Given the description of an element on the screen output the (x, y) to click on. 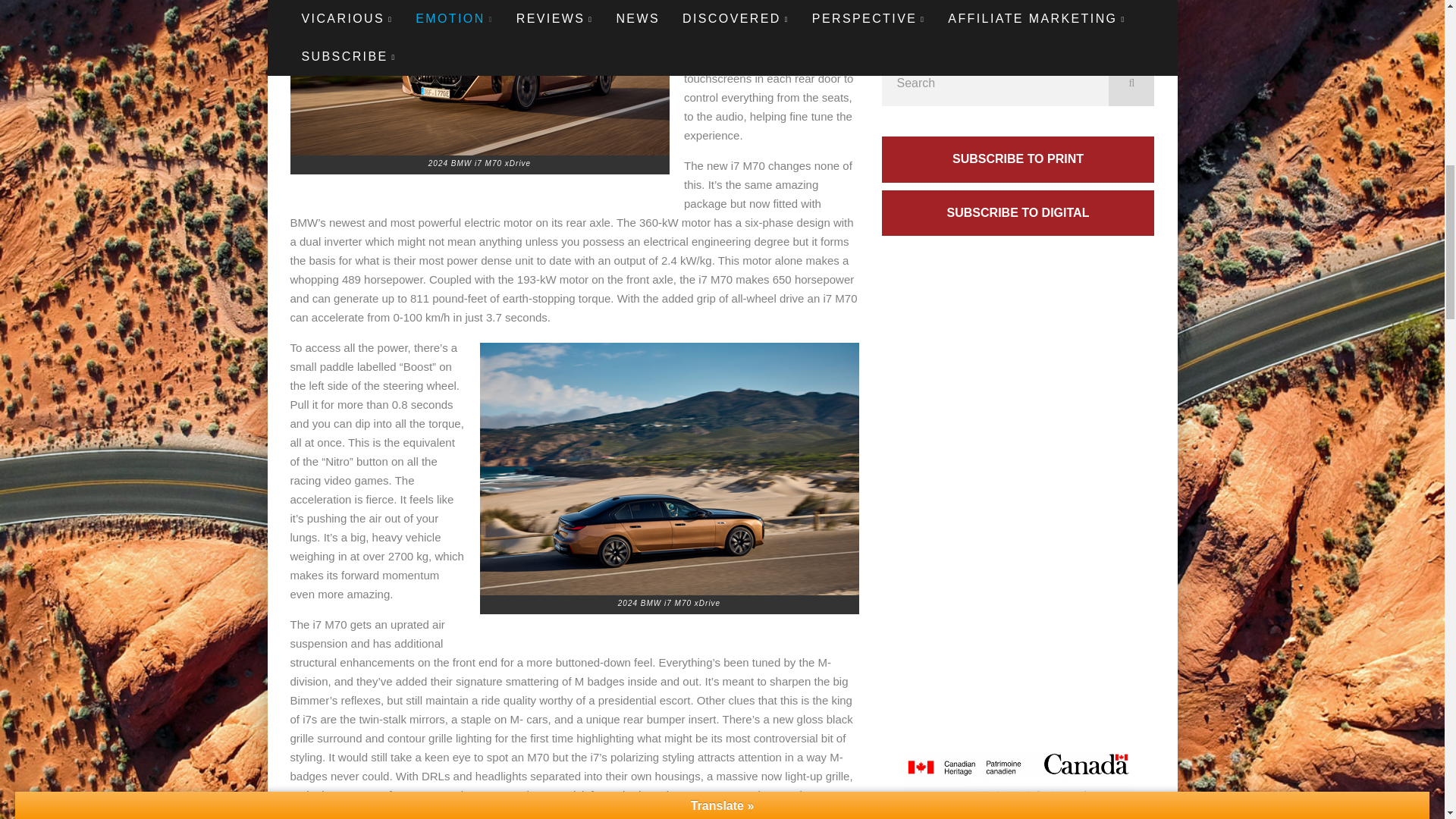
Advertisement (1017, 18)
